Given the description of an element on the screen output the (x, y) to click on. 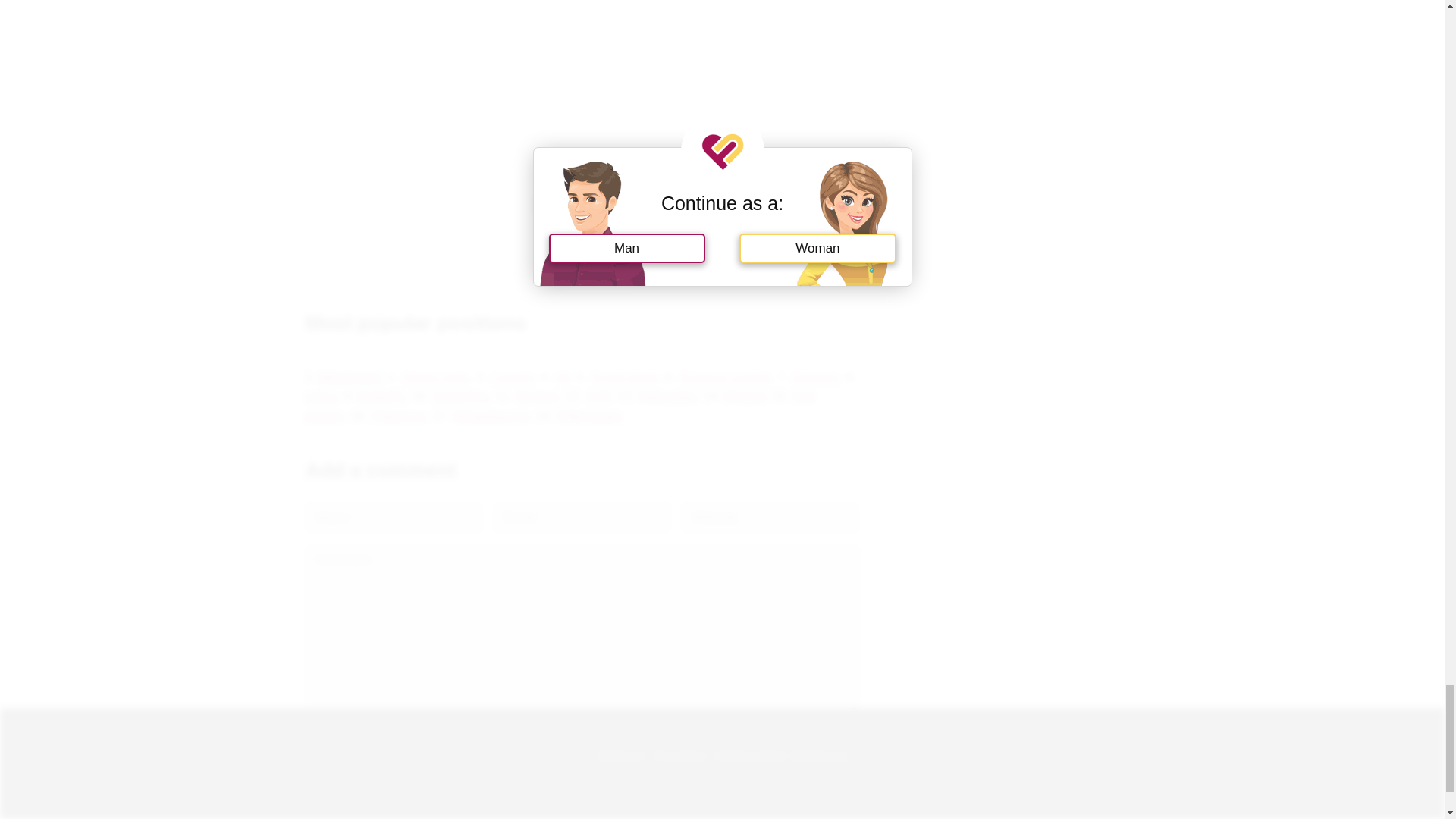
Image Usage Conditions (749, 753)
About Us (620, 753)
300. Pleasure Bible (581, 204)
yes (309, 731)
Information For Users (678, 753)
Post Comment (356, 766)
Contact Us (818, 753)
